Given the description of an element on the screen output the (x, y) to click on. 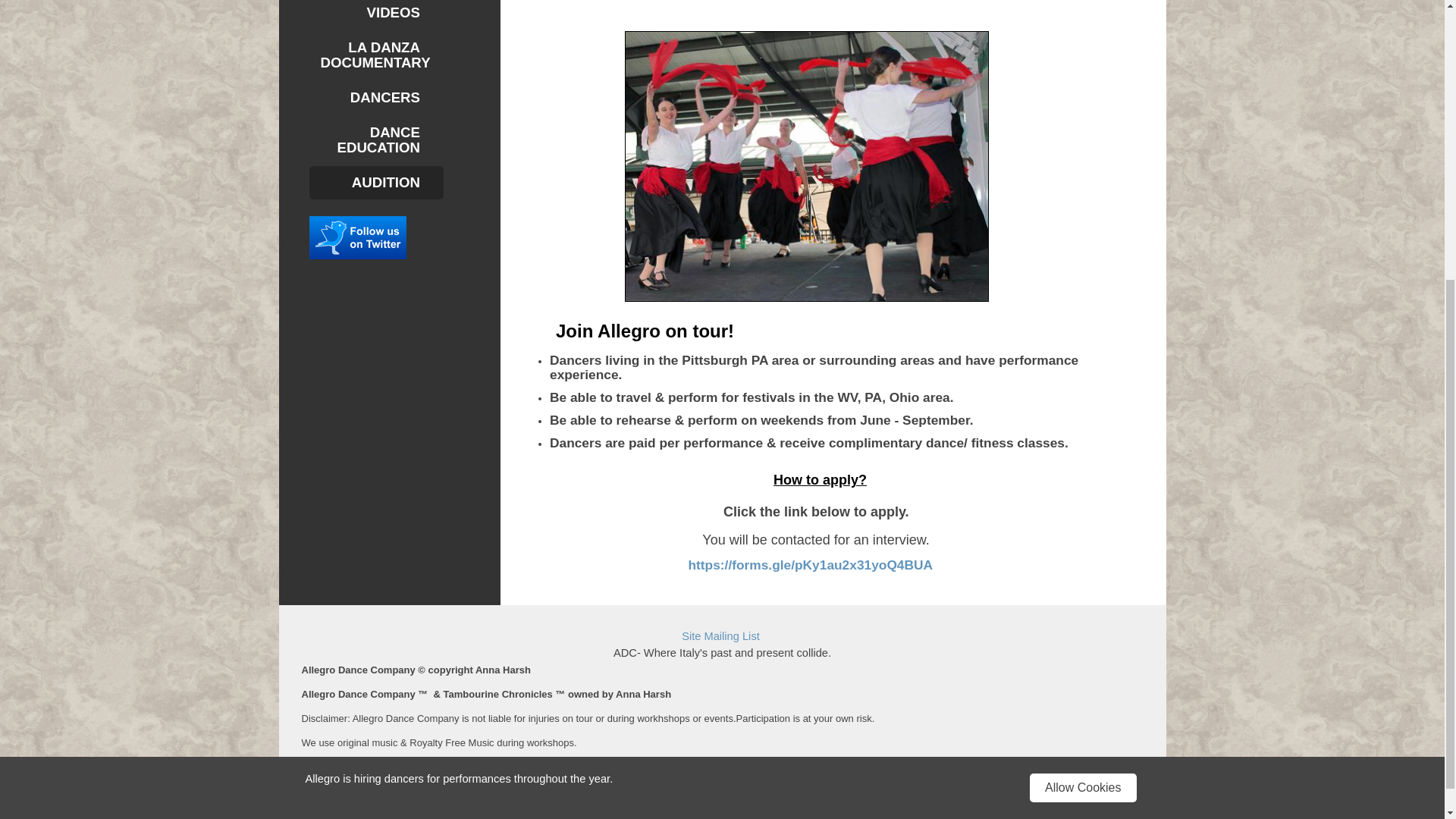
AUDITION (376, 182)
VIDEOS (376, 14)
DANCE EDUCATION (376, 140)
Site Mailing List (720, 635)
Allow Cookies (1082, 355)
www.ebizwebpages.com (564, 767)
DANCERS (376, 97)
LA DANZA DOCUMENTARY (376, 55)
